Given the description of an element on the screen output the (x, y) to click on. 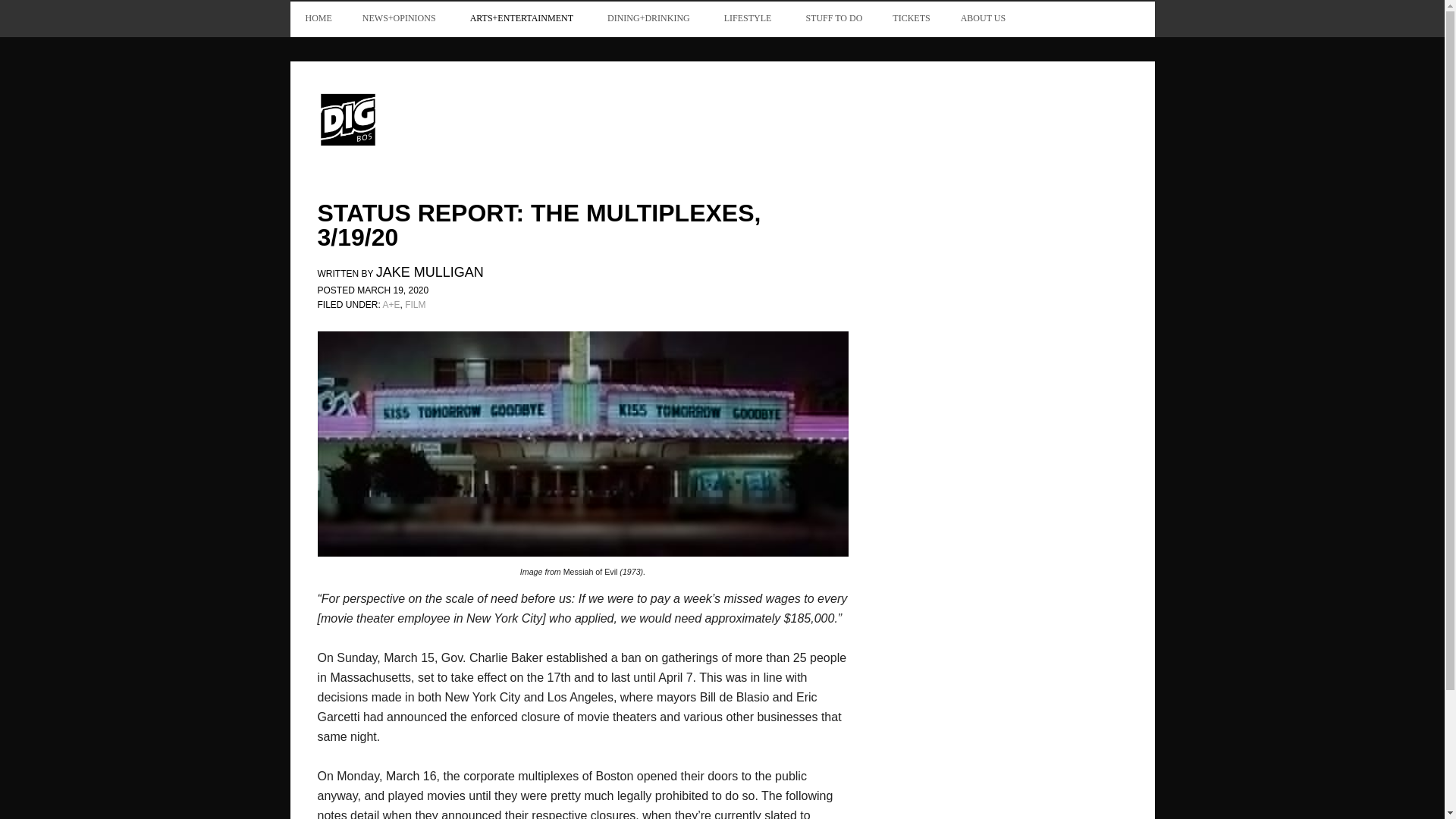
JAKE MULLIGAN (429, 273)
HOME (317, 18)
DIG BOS (419, 118)
TICKETS (910, 18)
FILM (414, 304)
STUFF TO DO (833, 18)
LIFESTYLE (749, 18)
